Given the description of an element on the screen output the (x, y) to click on. 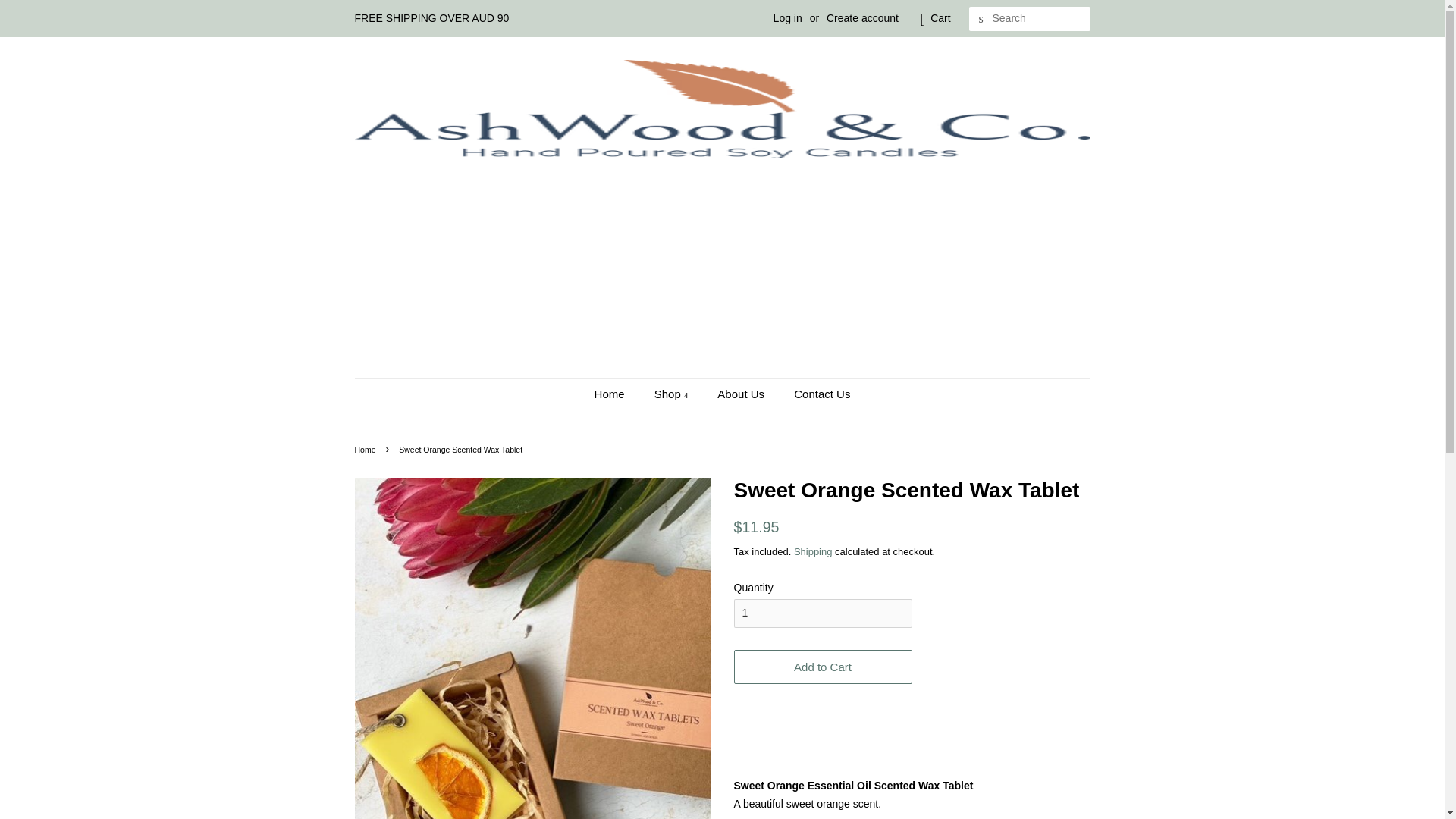
Back to the frontpage (367, 449)
Log in (787, 18)
Search (980, 18)
Cart (940, 18)
Home (617, 394)
Shop (673, 394)
1 (822, 613)
Create account (862, 18)
